Given the description of an element on the screen output the (x, y) to click on. 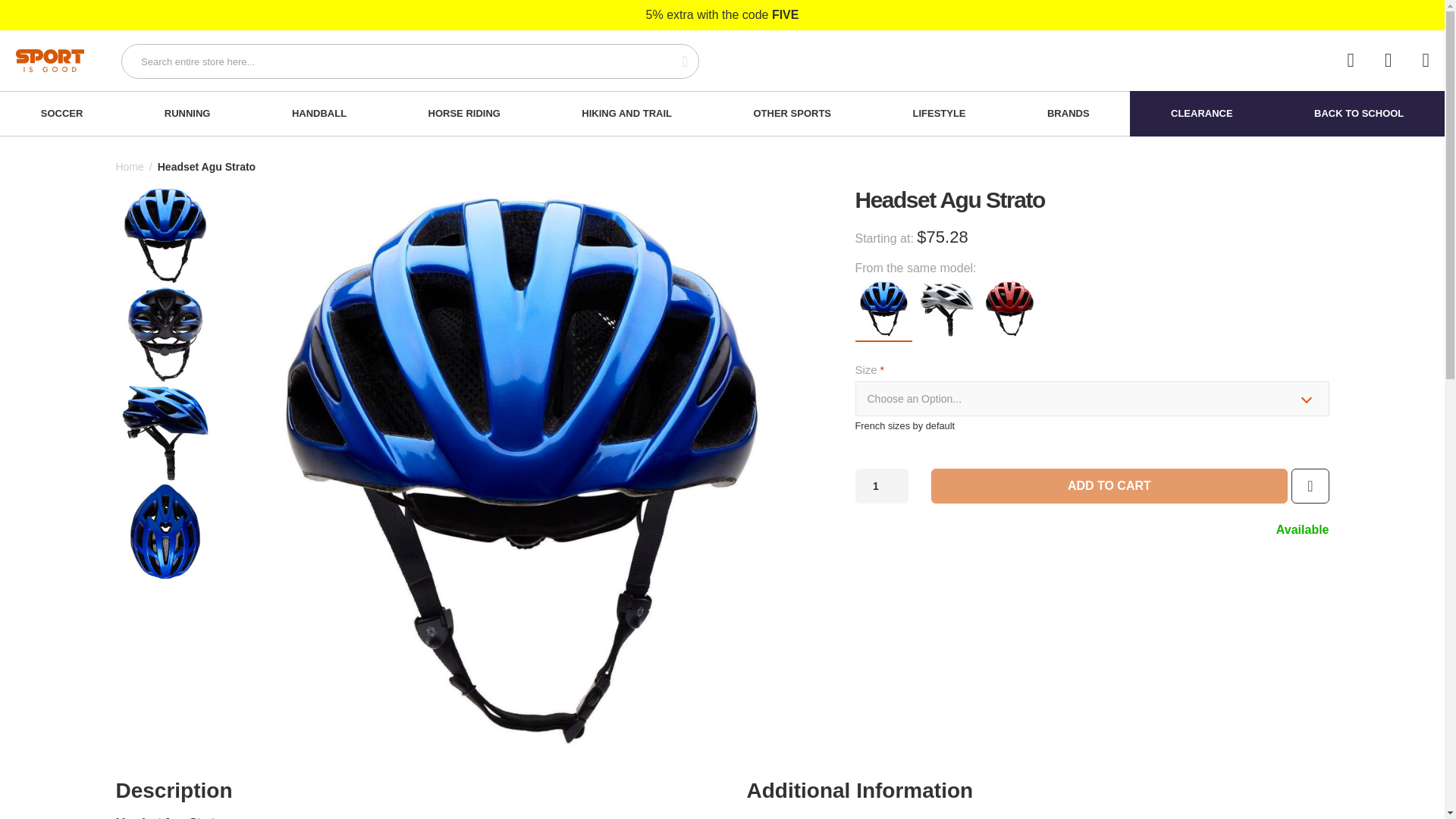
Qty (882, 485)
Search (675, 61)
SOCCER (61, 113)
Go to Home Page (128, 166)
Headset Agu Strato (164, 334)
SEARCH (675, 61)
Headset Agu Strato (164, 433)
Add to Cart (1109, 485)
Headset Agu Strato (164, 531)
Headset Agu Strato (164, 235)
1 (882, 485)
